Given the description of an element on the screen output the (x, y) to click on. 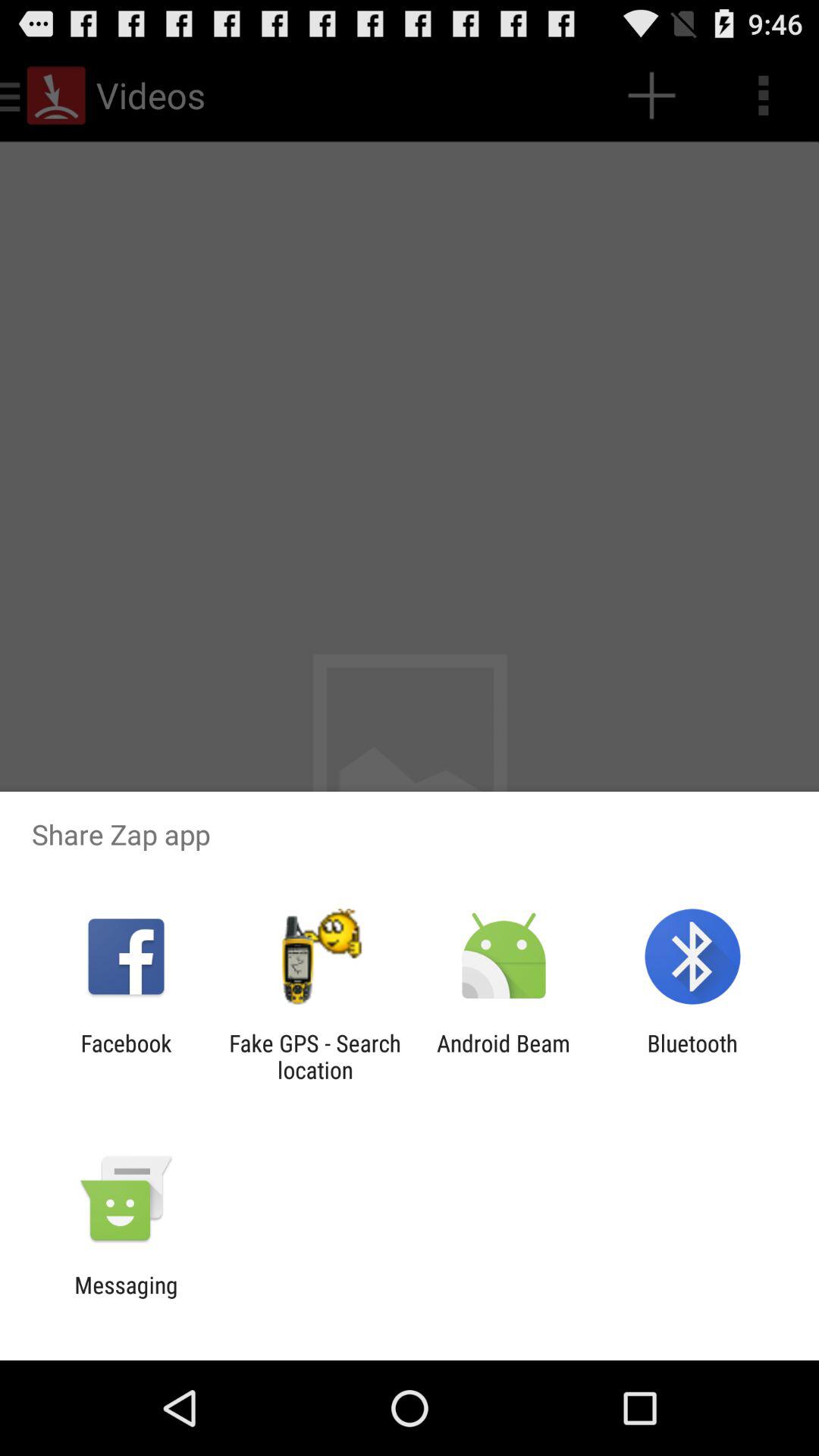
swipe to the facebook item (125, 1056)
